Given the description of an element on the screen output the (x, y) to click on. 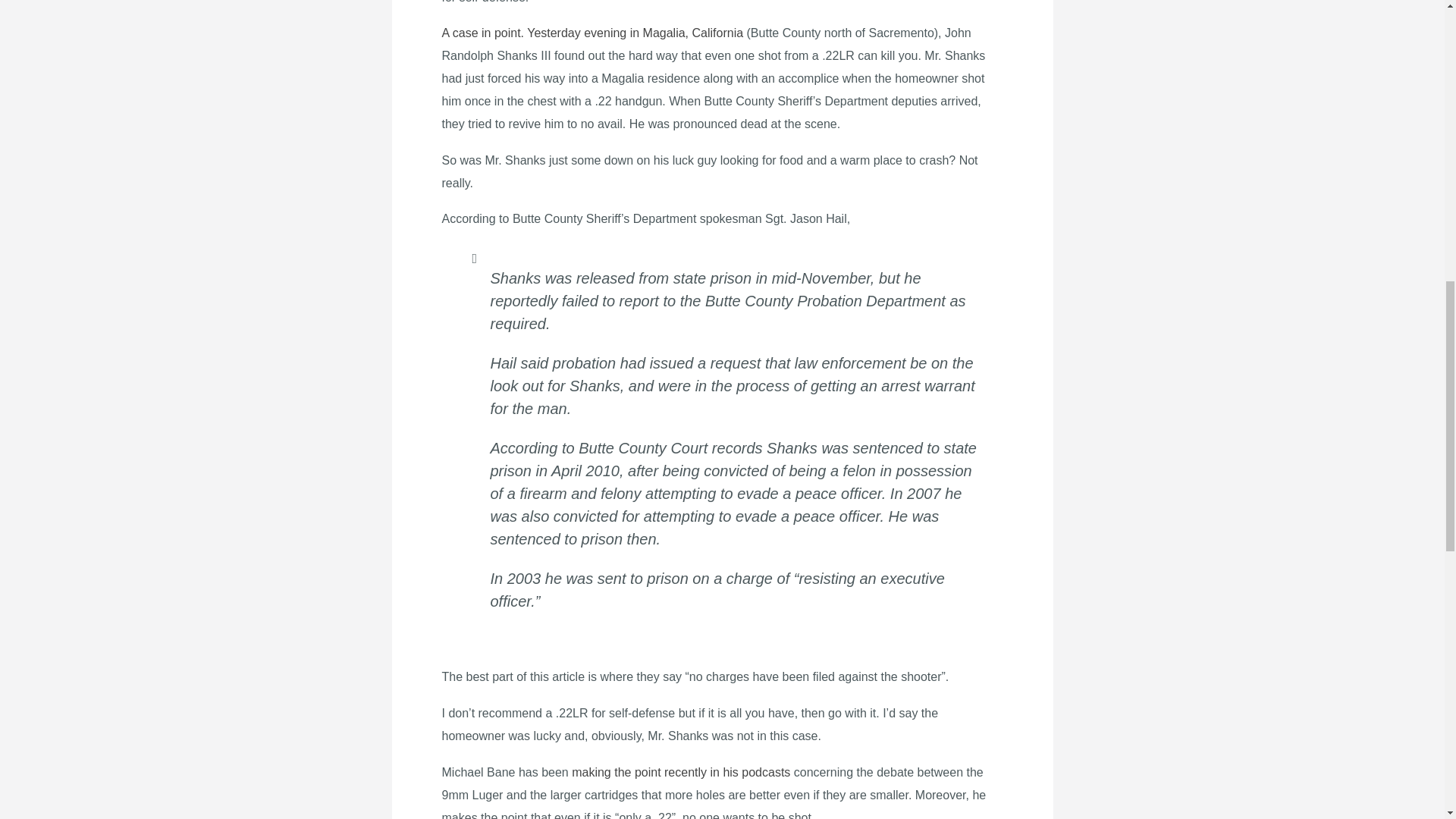
A case in point. Yesterday evening in Magalia, California (593, 32)
making the point recently in his podcasts (681, 771)
